Given the description of an element on the screen output the (x, y) to click on. 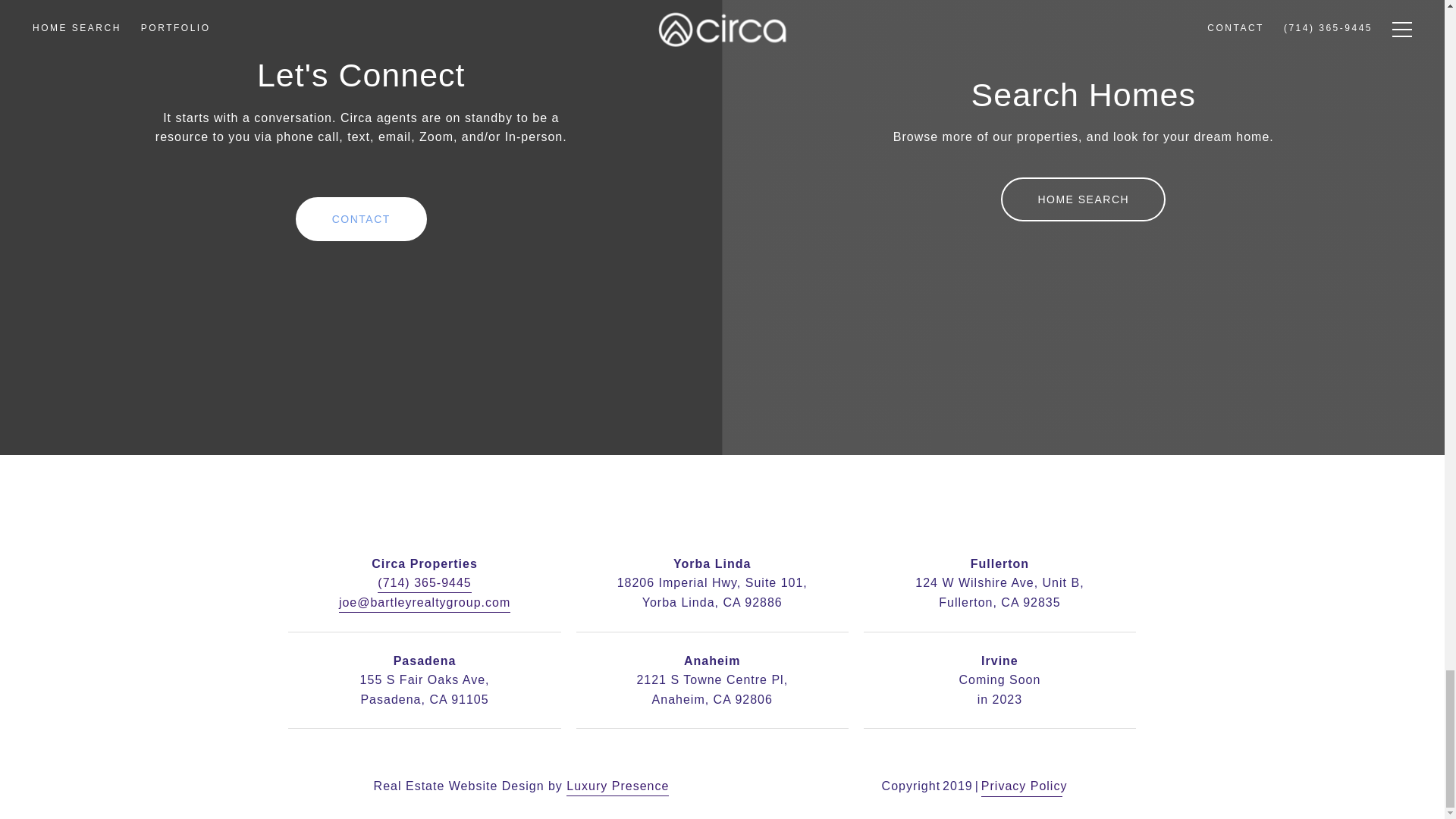
CONTACT (360, 218)
HOME SEARCH (1083, 199)
